Given the description of an element on the screen output the (x, y) to click on. 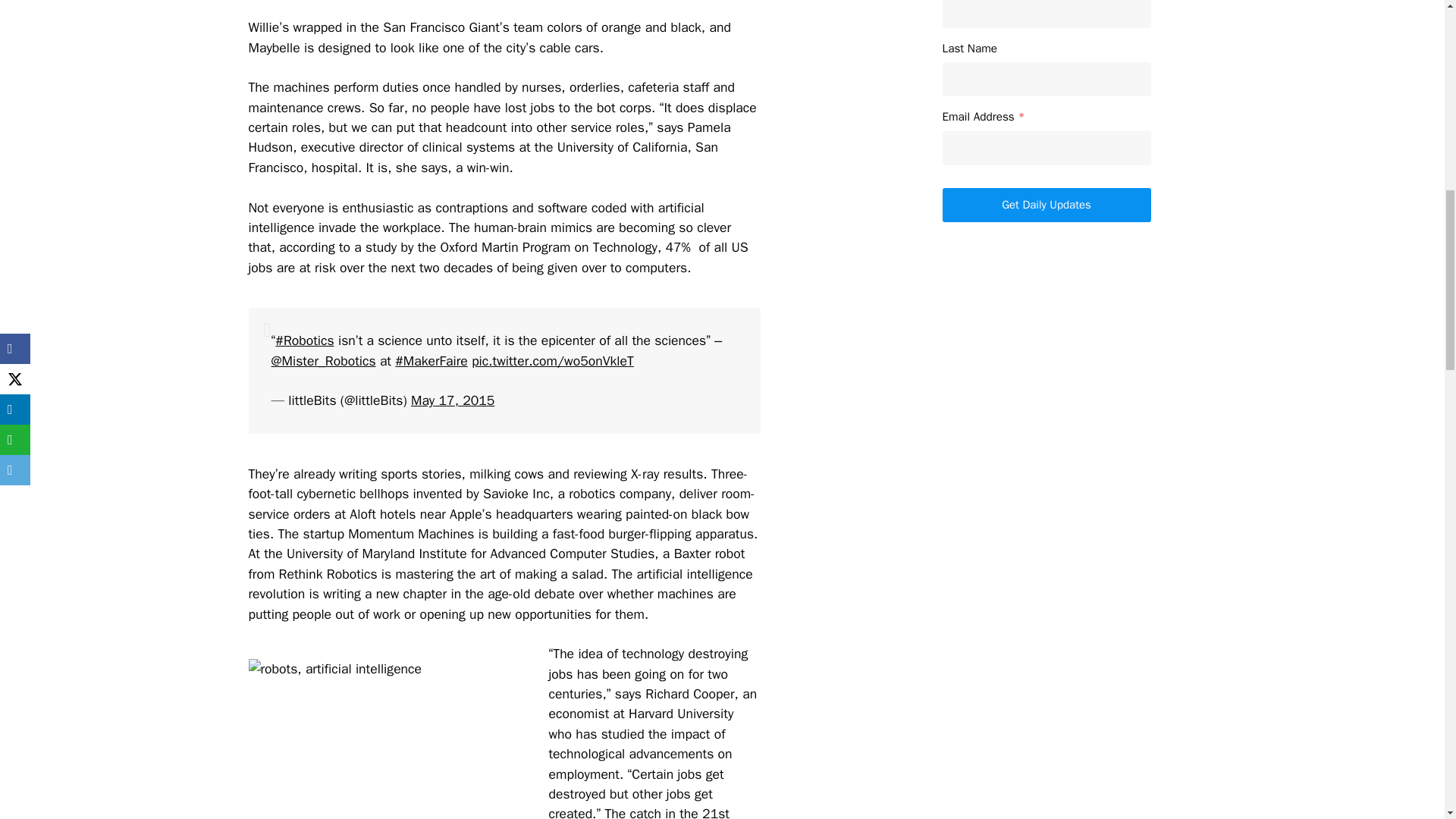
Get Daily Updates (1046, 204)
